Given the description of an element on the screen output the (x, y) to click on. 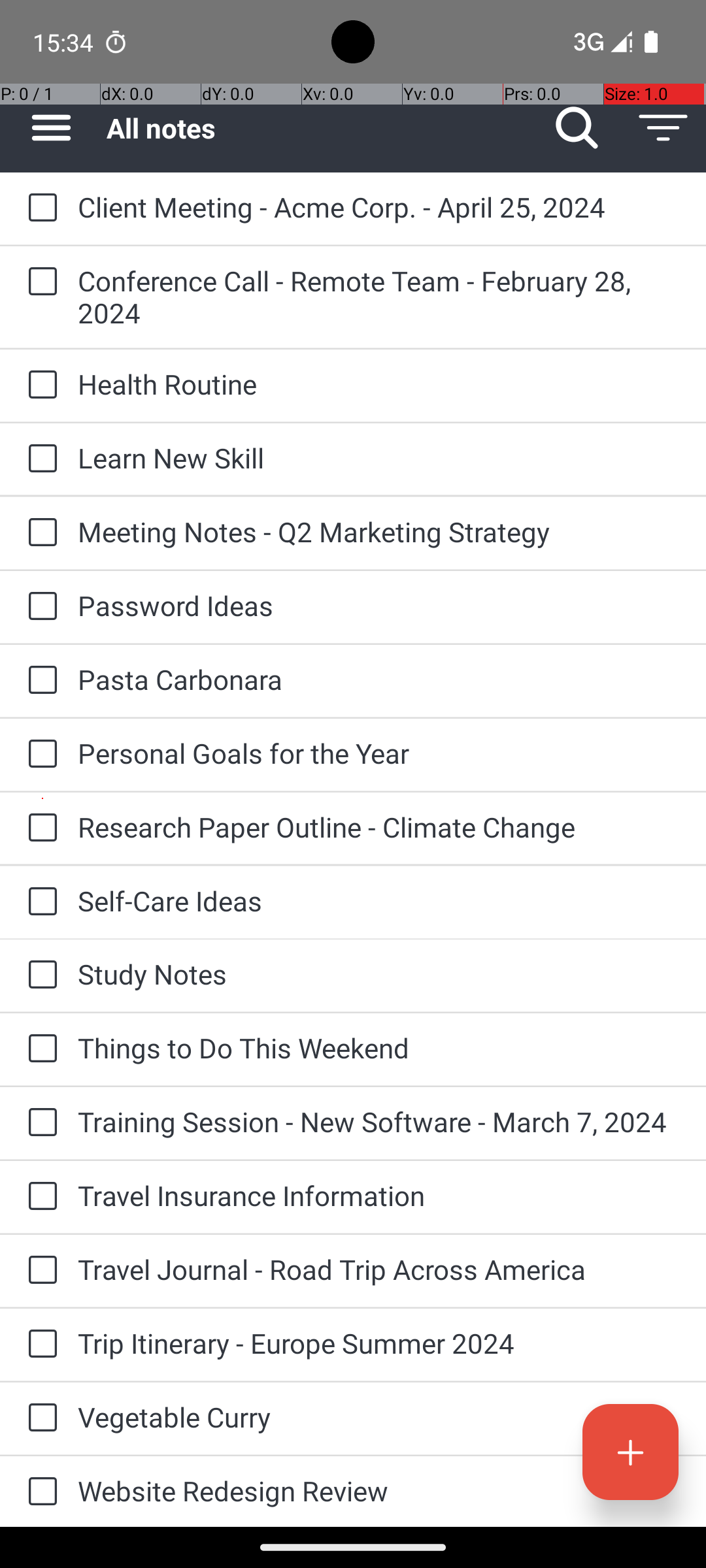
to-do: Conference Call - Remote Team - February 28, 2024 Element type: android.widget.CheckBox (38, 282)
Conference Call - Remote Team - February 28, 2024 Element type: android.widget.TextView (378, 296)
to-do: Learn New Skill Element type: android.widget.CheckBox (38, 459)
Learn New Skill Element type: android.widget.TextView (378, 457)
to-do: Meeting Notes - Q2 Marketing Strategy Element type: android.widget.CheckBox (38, 533)
Meeting Notes - Q2 Marketing Strategy Element type: android.widget.TextView (378, 531)
to-do: Password Ideas Element type: android.widget.CheckBox (38, 606)
Password Ideas Element type: android.widget.TextView (378, 604)
to-do: Pasta Carbonara Element type: android.widget.CheckBox (38, 680)
Pasta Carbonara Element type: android.widget.TextView (378, 678)
to-do: Personal Goals for the Year Element type: android.widget.CheckBox (38, 754)
Personal Goals for the Year Element type: android.widget.TextView (378, 752)
to-do: Self-Care Ideas Element type: android.widget.CheckBox (38, 902)
to-do: Study Notes Element type: android.widget.CheckBox (38, 975)
Study Notes Element type: android.widget.TextView (378, 973)
to-do: Things to Do This Weekend Element type: android.widget.CheckBox (38, 1049)
Things to Do This Weekend Element type: android.widget.TextView (378, 1047)
to-do: Training Session - New Software - March 7, 2024 Element type: android.widget.CheckBox (38, 1123)
Training Session - New Software - March 7, 2024 Element type: android.widget.TextView (378, 1121)
to-do: Travel Insurance Information Element type: android.widget.CheckBox (38, 1196)
Travel Insurance Information Element type: android.widget.TextView (378, 1194)
to-do: Travel Journal - Road Trip Across America Element type: android.widget.CheckBox (38, 1270)
to-do: Vegetable Curry Element type: android.widget.CheckBox (38, 1418)
to-do: Website Redesign Review Element type: android.widget.CheckBox (38, 1491)
Website Redesign Review Element type: android.widget.TextView (378, 1490)
